Given the description of an element on the screen output the (x, y) to click on. 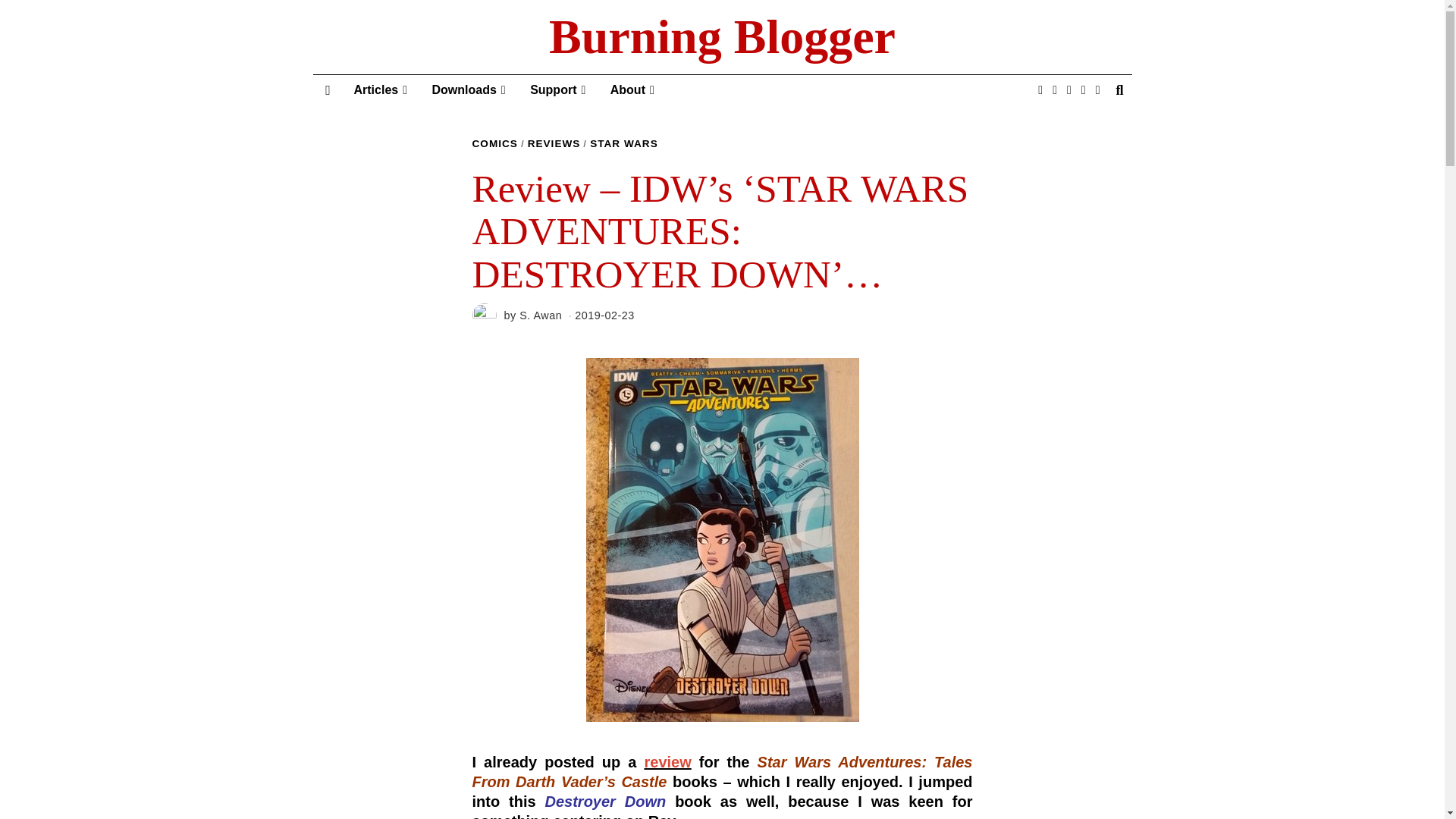
About (632, 90)
Burning Blogger (722, 36)
Support (557, 90)
REVIEWS (553, 144)
STAR WARS (623, 144)
COMICS (493, 144)
Downloads (469, 90)
Articles (379, 90)
